Given the description of an element on the screen output the (x, y) to click on. 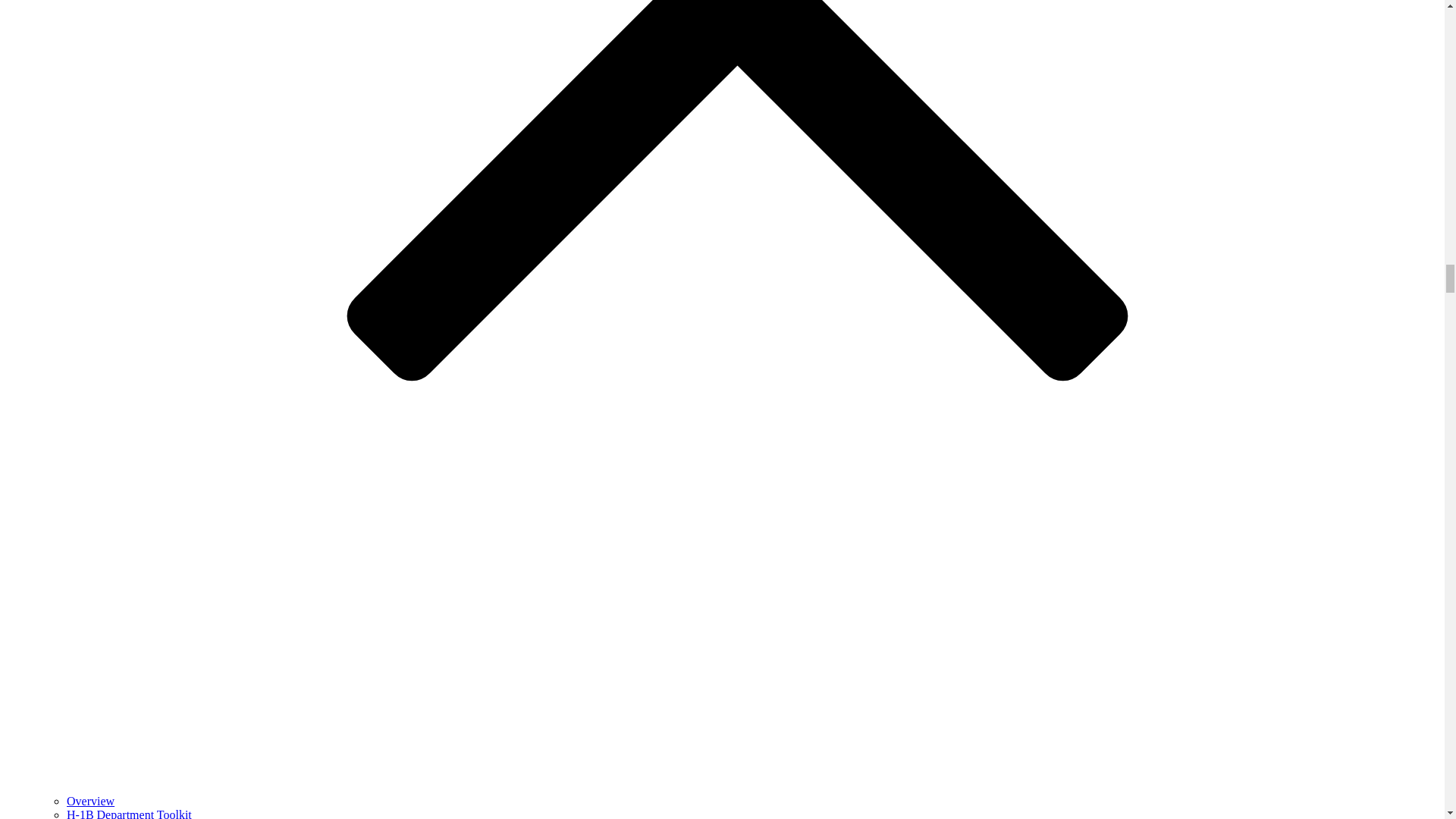
Overview (90, 800)
H-1B Department Toolkit (129, 813)
